Given the description of an element on the screen output the (x, y) to click on. 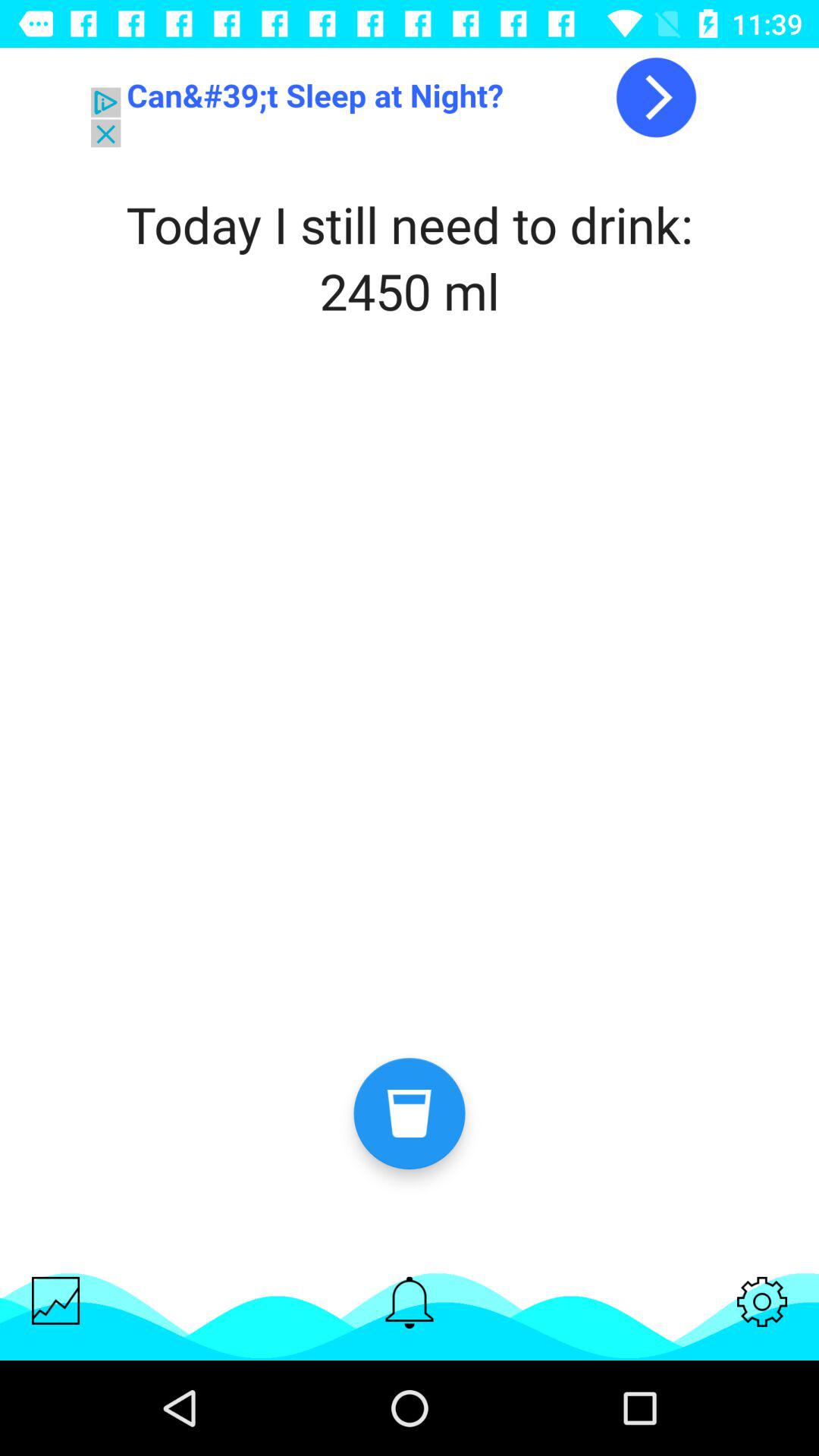
picture (55, 1300)
